Given the description of an element on the screen output the (x, y) to click on. 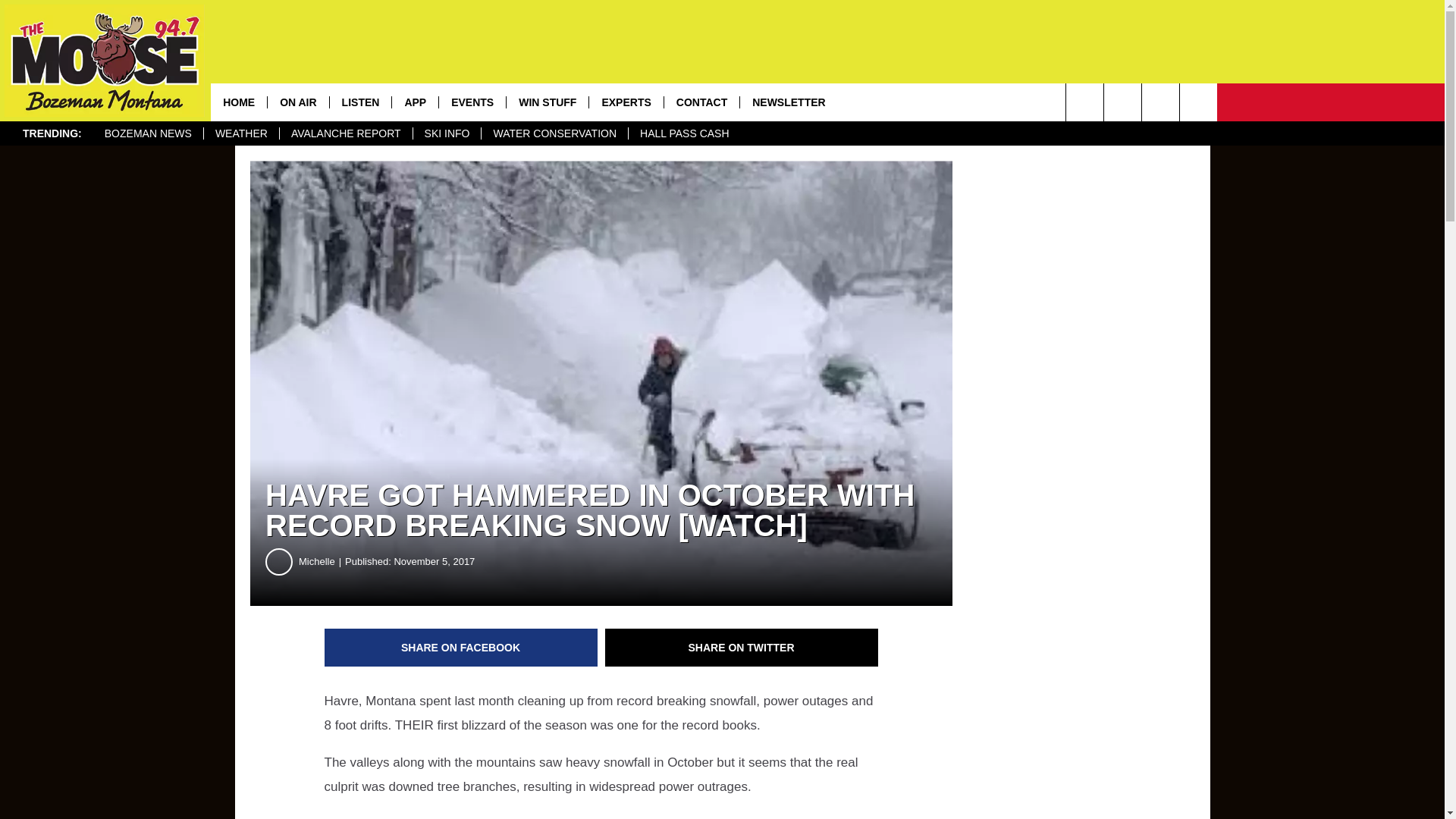
ON AIR (297, 102)
AVALANCHE REPORT (345, 133)
WATER CONSERVATION (553, 133)
SKI INFO (446, 133)
TRENDING: (52, 133)
WEATHER (241, 133)
APP (414, 102)
EXPERTS (625, 102)
LISTEN (360, 102)
WIN STUFF (546, 102)
